Given the description of an element on the screen output the (x, y) to click on. 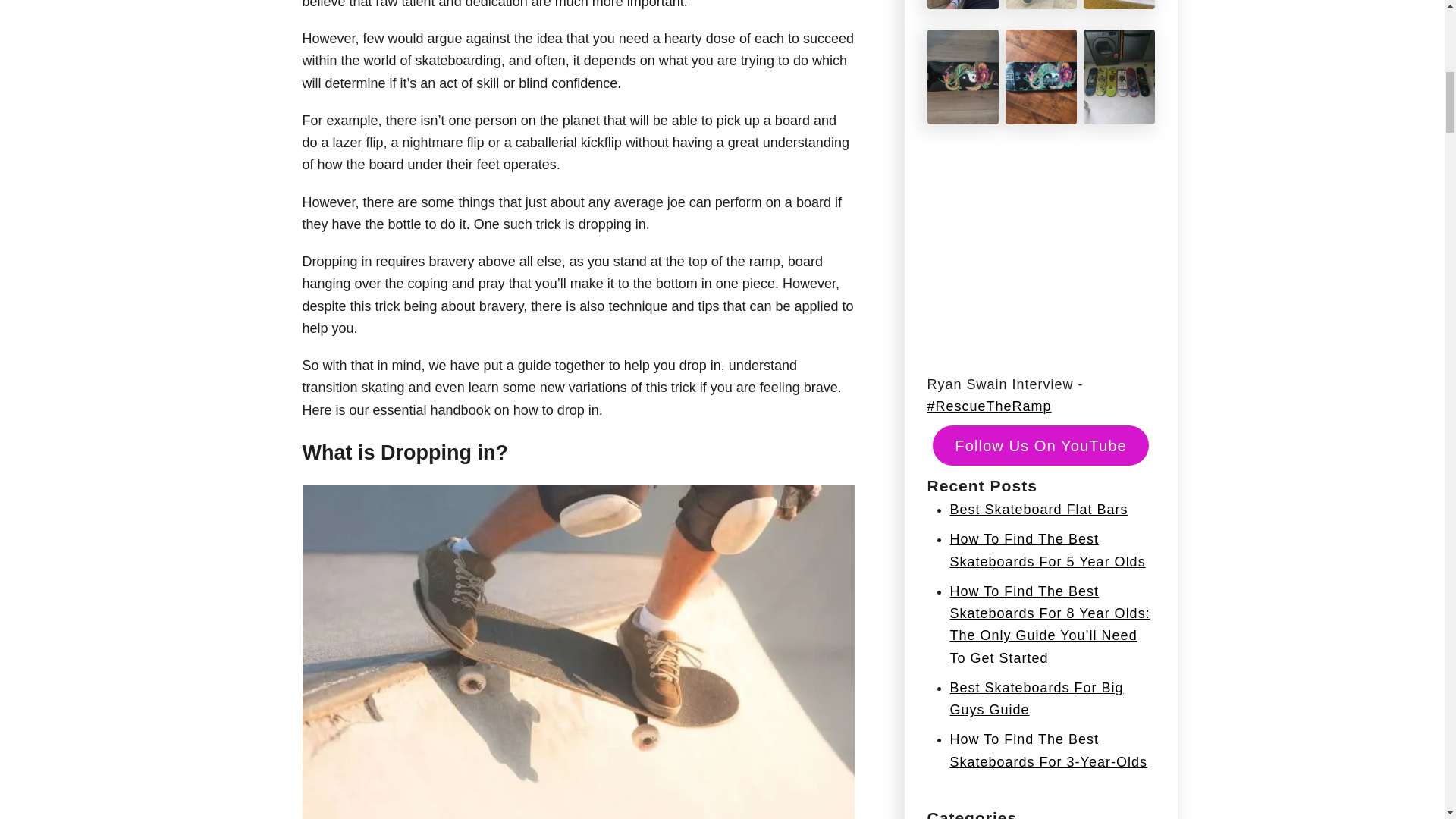
Follow Us On YouTube (1040, 445)
Best Skateboards For Big Guys Guide (1035, 698)
How To Find The Best Skateboards For 5 Year Olds (1046, 549)
Best Skateboard Flat Bars (1037, 509)
How To Find The Best Skateboards For 3-Year-Olds (1048, 750)
